Given the description of an element on the screen output the (x, y) to click on. 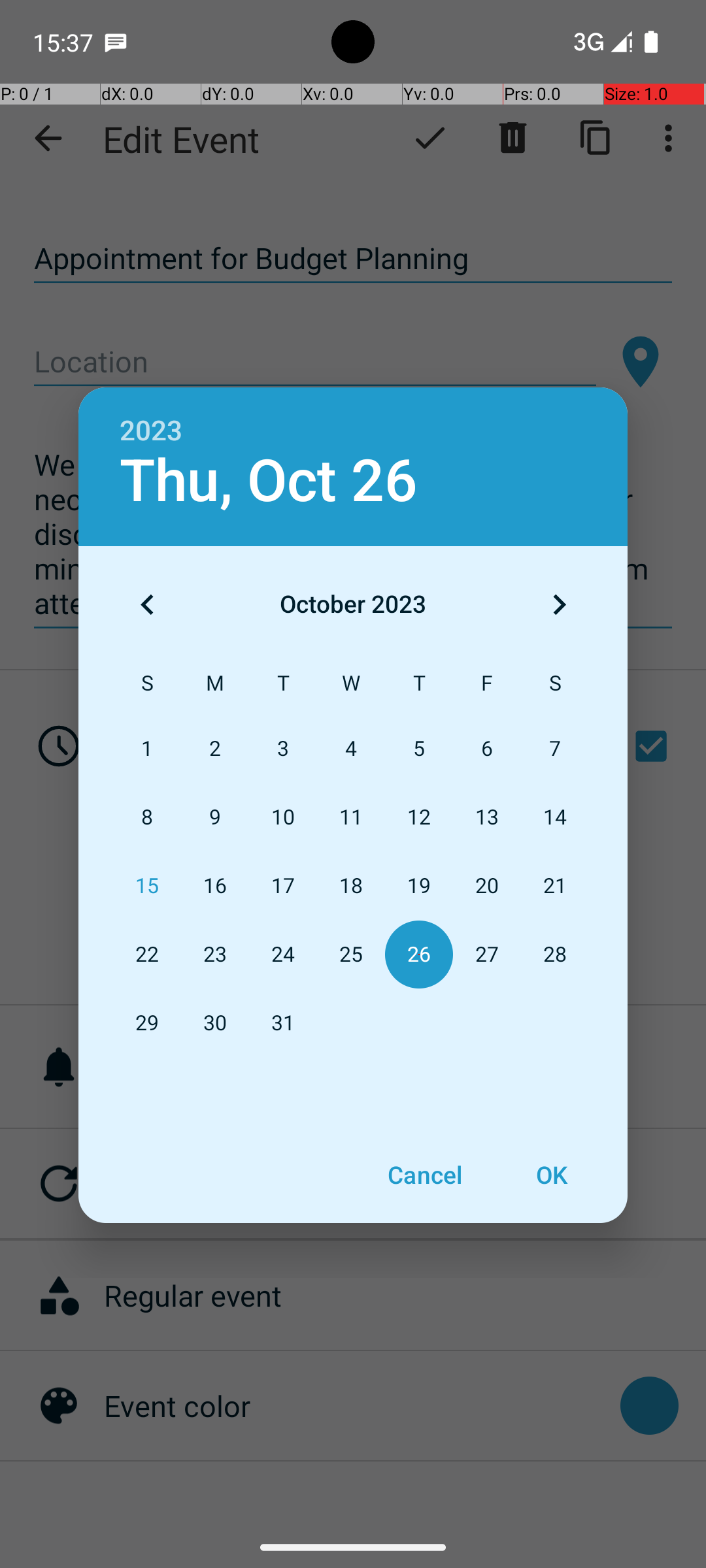
Thu, Oct 26 Element type: android.widget.TextView (268, 480)
15:37 Element type: android.widget.TextView (64, 41)
